Given the description of an element on the screen output the (x, y) to click on. 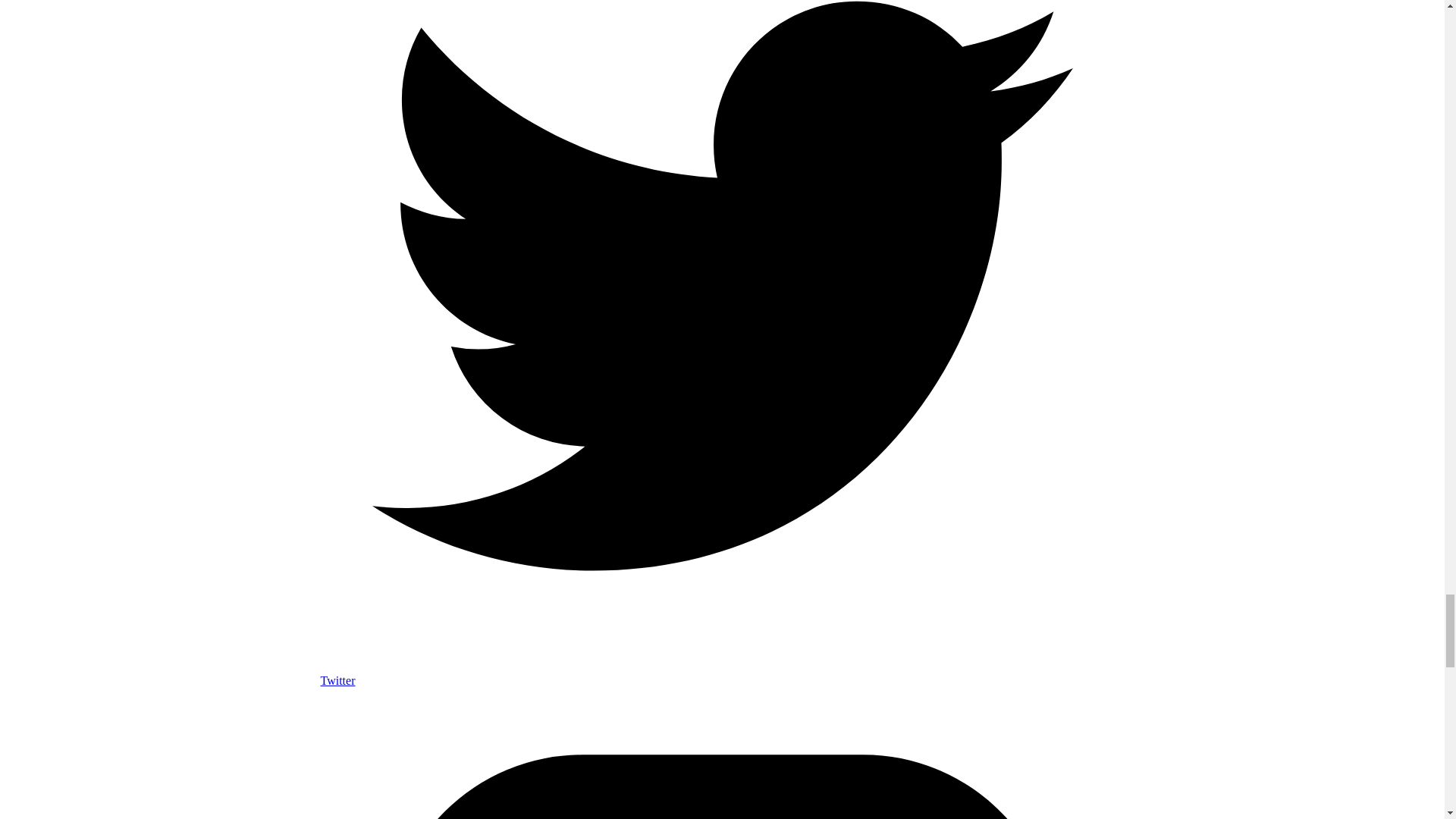
Twitter (722, 673)
